Given the description of an element on the screen output the (x, y) to click on. 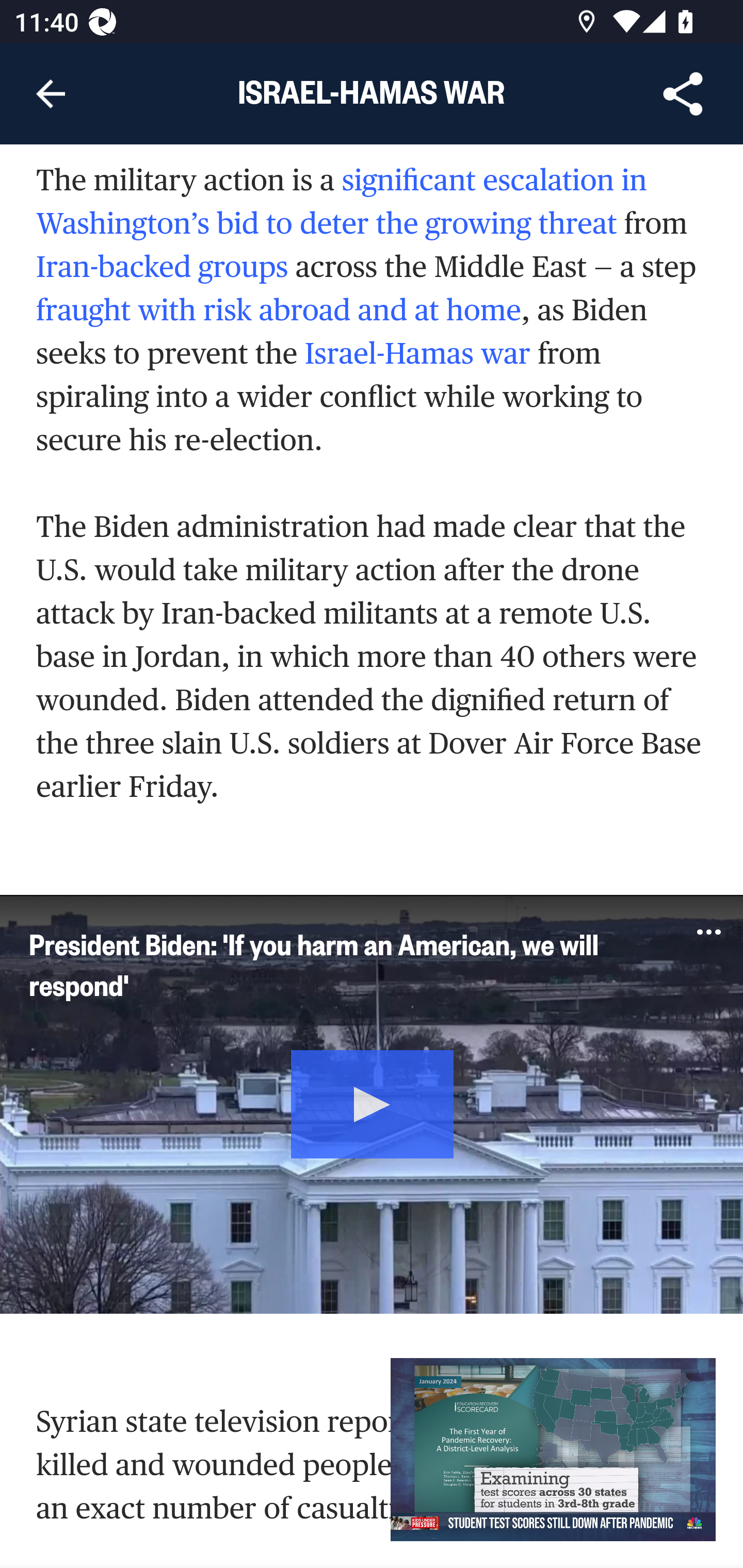
Navigate up (50, 93)
Share Article, button (683, 94)
significant escalation in Washington (341, 203)
Iran-backed groups (162, 268)
fraught with risk abroad and at home (278, 312)
Israel-Hamas war (417, 355)
